Given the description of an element on the screen output the (x, y) to click on. 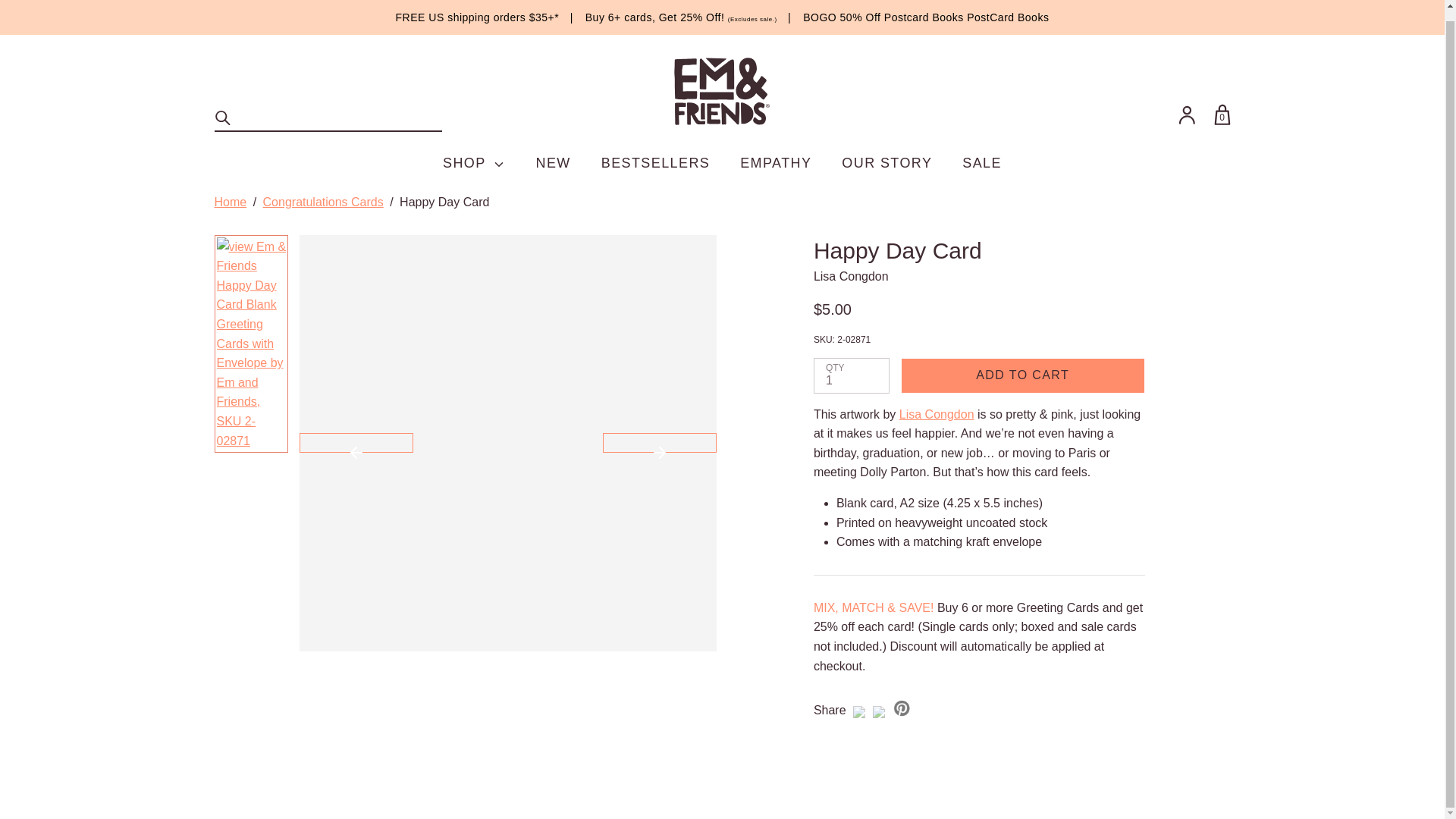
Meet Lisa Congdon (936, 413)
SHOP (473, 152)
Home (230, 201)
Search (222, 106)
